Given the description of an element on the screen output the (x, y) to click on. 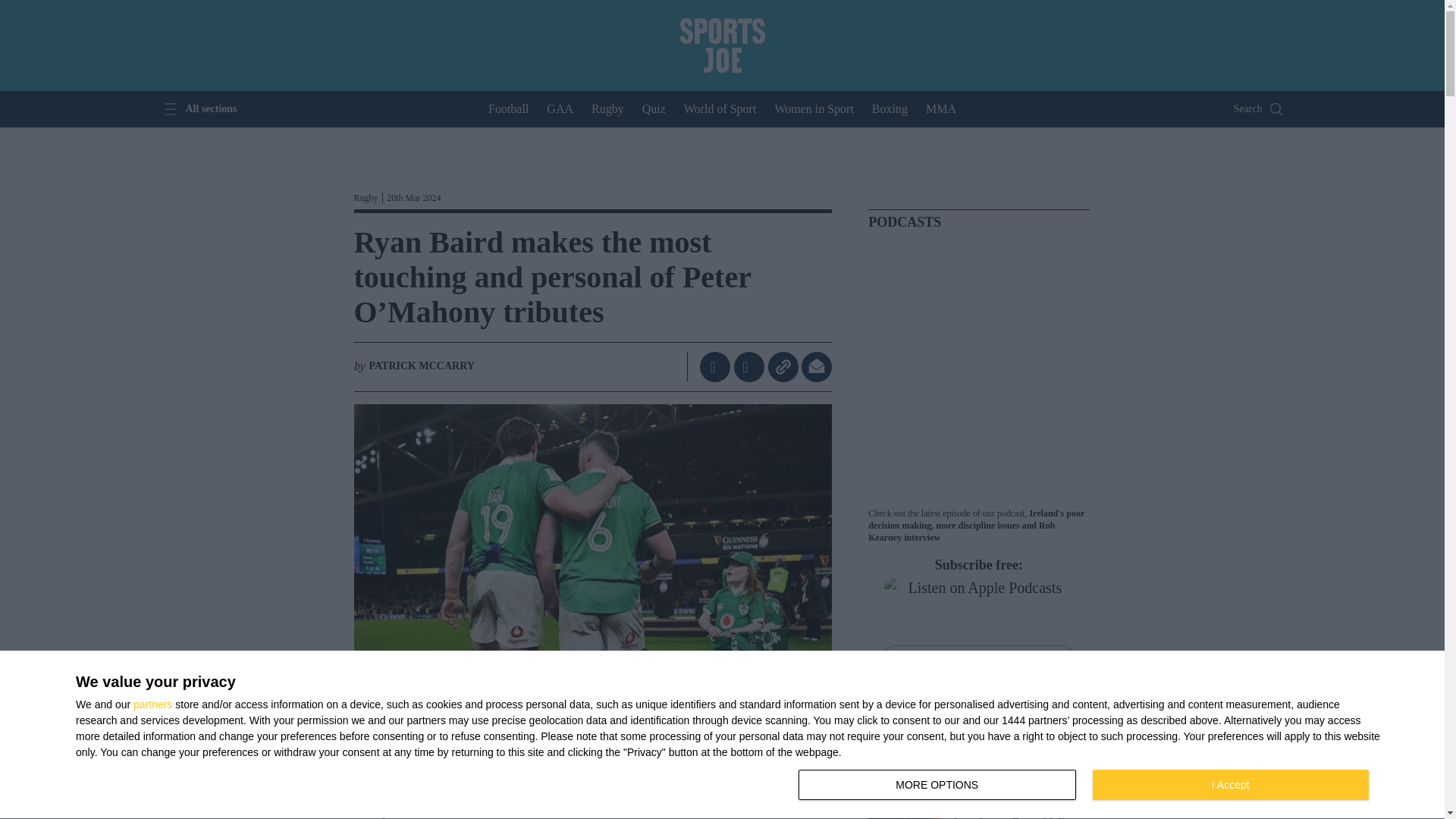
Women in Sport (197, 108)
Share this on Twitter (813, 108)
Rugby (750, 367)
Quiz (607, 108)
Get in touch by email (653, 108)
Share on facebook (816, 367)
MMA (710, 367)
GAA (941, 108)
Boxing (560, 108)
MORE OPTIONS (889, 108)
World of Sport (936, 784)
I Accept (720, 108)
Rugby (1230, 784)
